Given the description of an element on the screen output the (x, y) to click on. 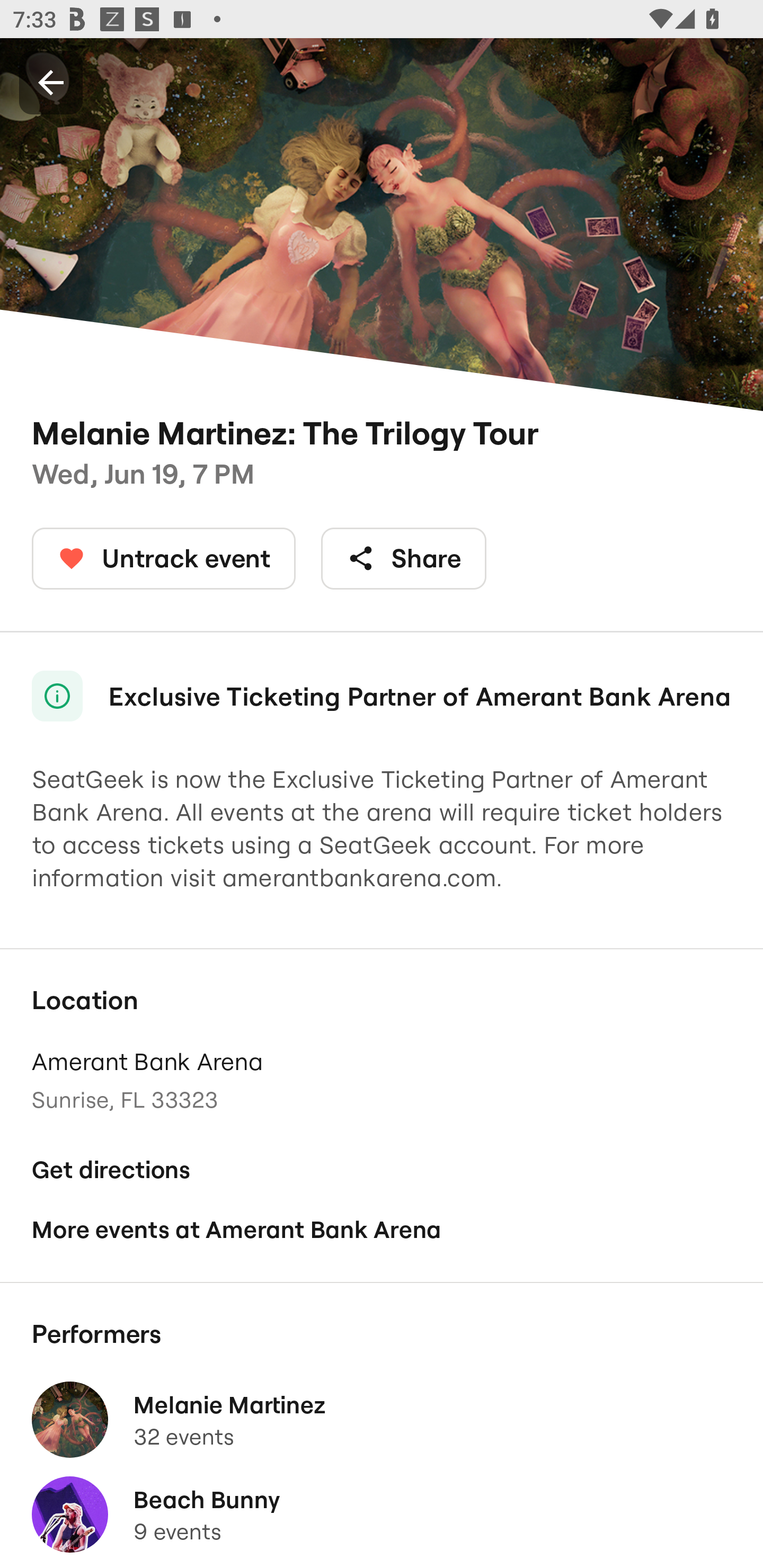
Back (50, 81)
Untrack event (164, 557)
Share (403, 557)
Get directions (381, 1169)
More events at Amerant Bank Arena (381, 1229)
Melanie Martinez 32 events (381, 1419)
Beach Bunny 9 events (381, 1514)
